Given the description of an element on the screen output the (x, y) to click on. 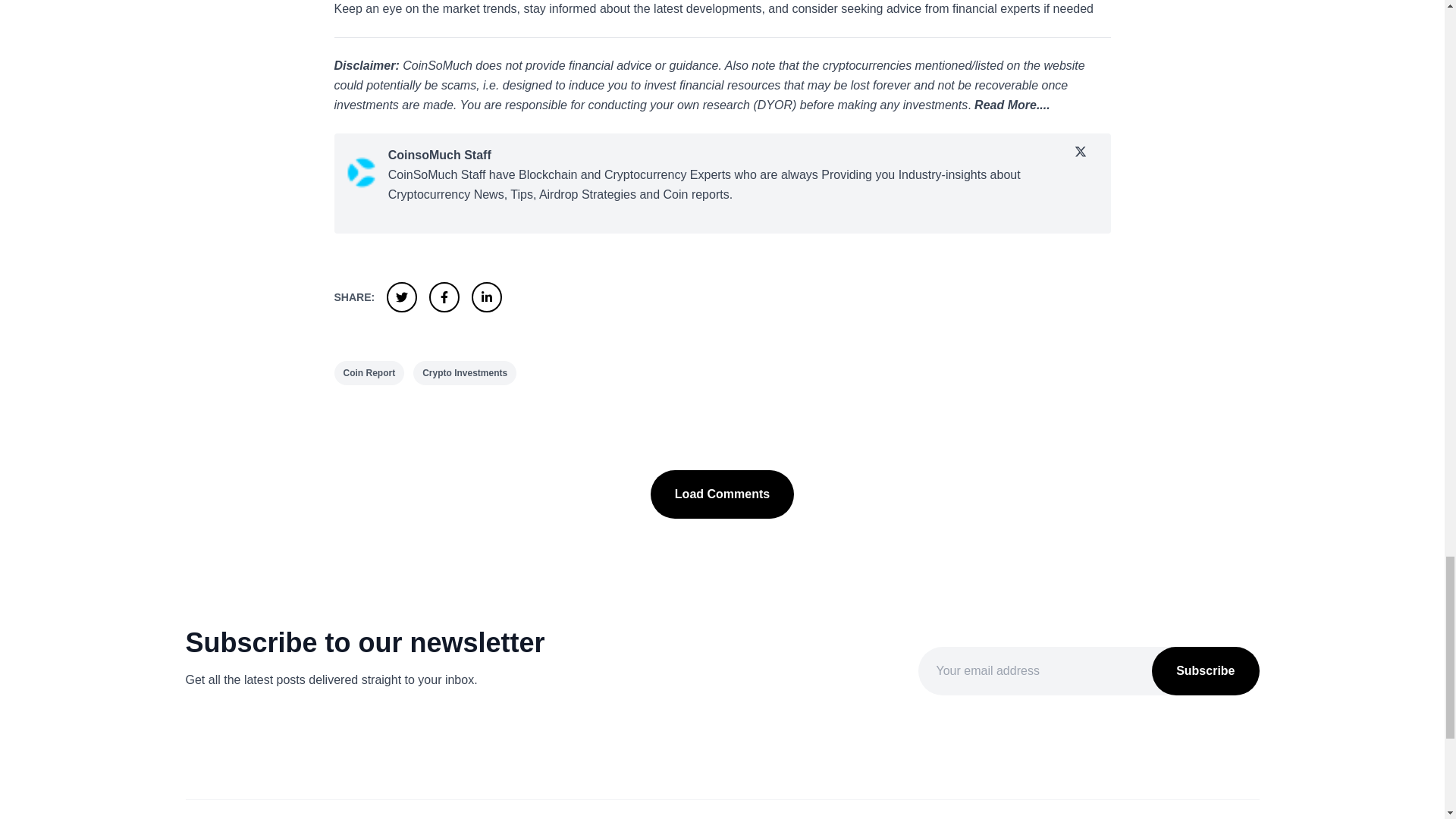
Subscribe (1205, 671)
Crypto Investments (464, 372)
Load Comments (721, 494)
Coin Report (368, 372)
Read More (1005, 104)
